Given the description of an element on the screen output the (x, y) to click on. 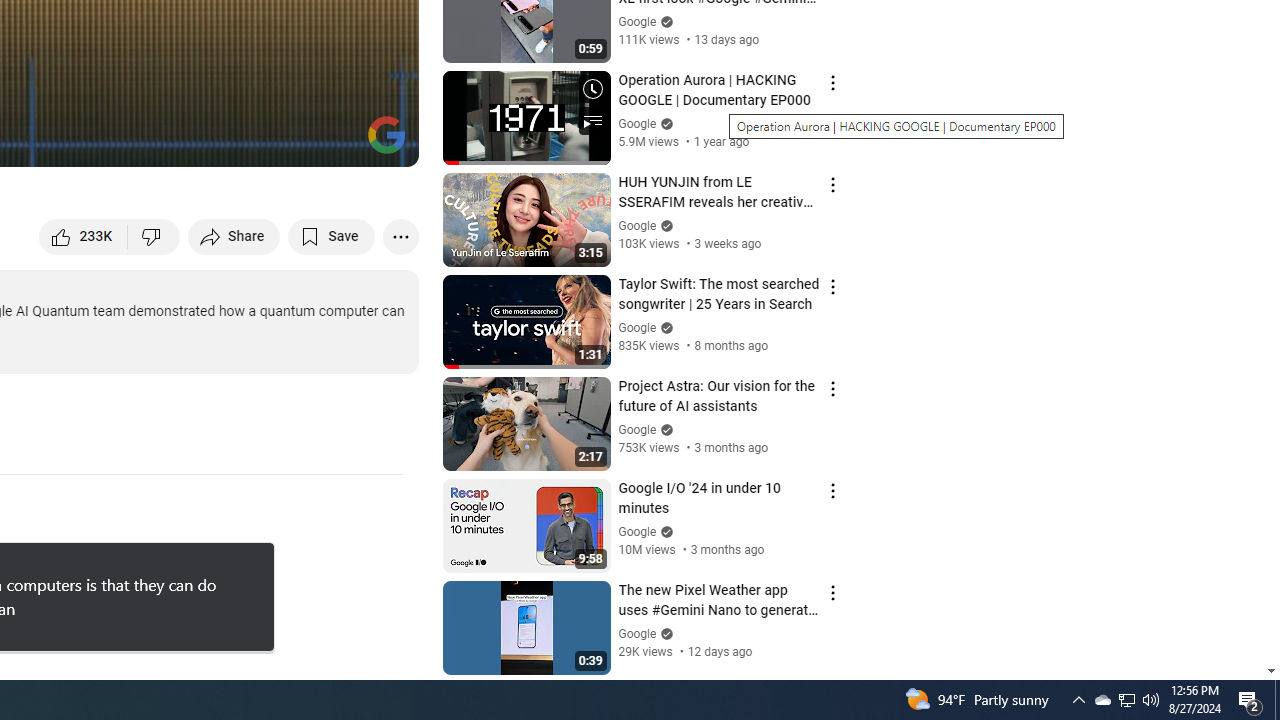
Miniplayer (i) (286, 142)
Dislike this video (154, 236)
Autoplay is on (141, 142)
Full screen keyboard shortcut f (382, 142)
Verified (664, 632)
Subtitles/closed captions unavailable (190, 142)
